Given the description of an element on the screen output the (x, y) to click on. 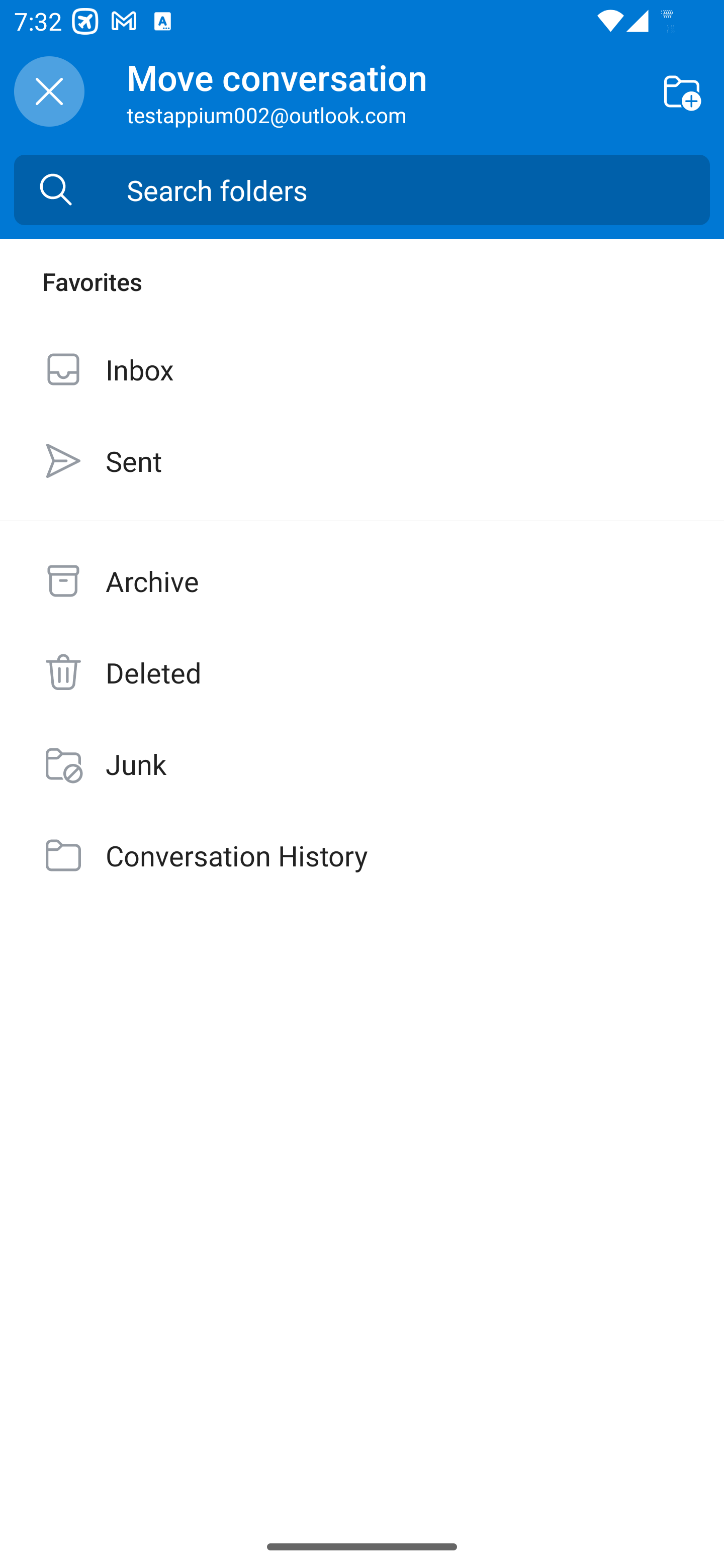
Move conversation, Cancel (49, 91)
Create new folder (681, 90)
Search folders (418, 190)
Inbox (362, 369)
Sent (362, 460)
Archive (362, 580)
Deleted (362, 672)
Junk (362, 763)
Conversation History (362, 855)
